Given the description of an element on the screen output the (x, y) to click on. 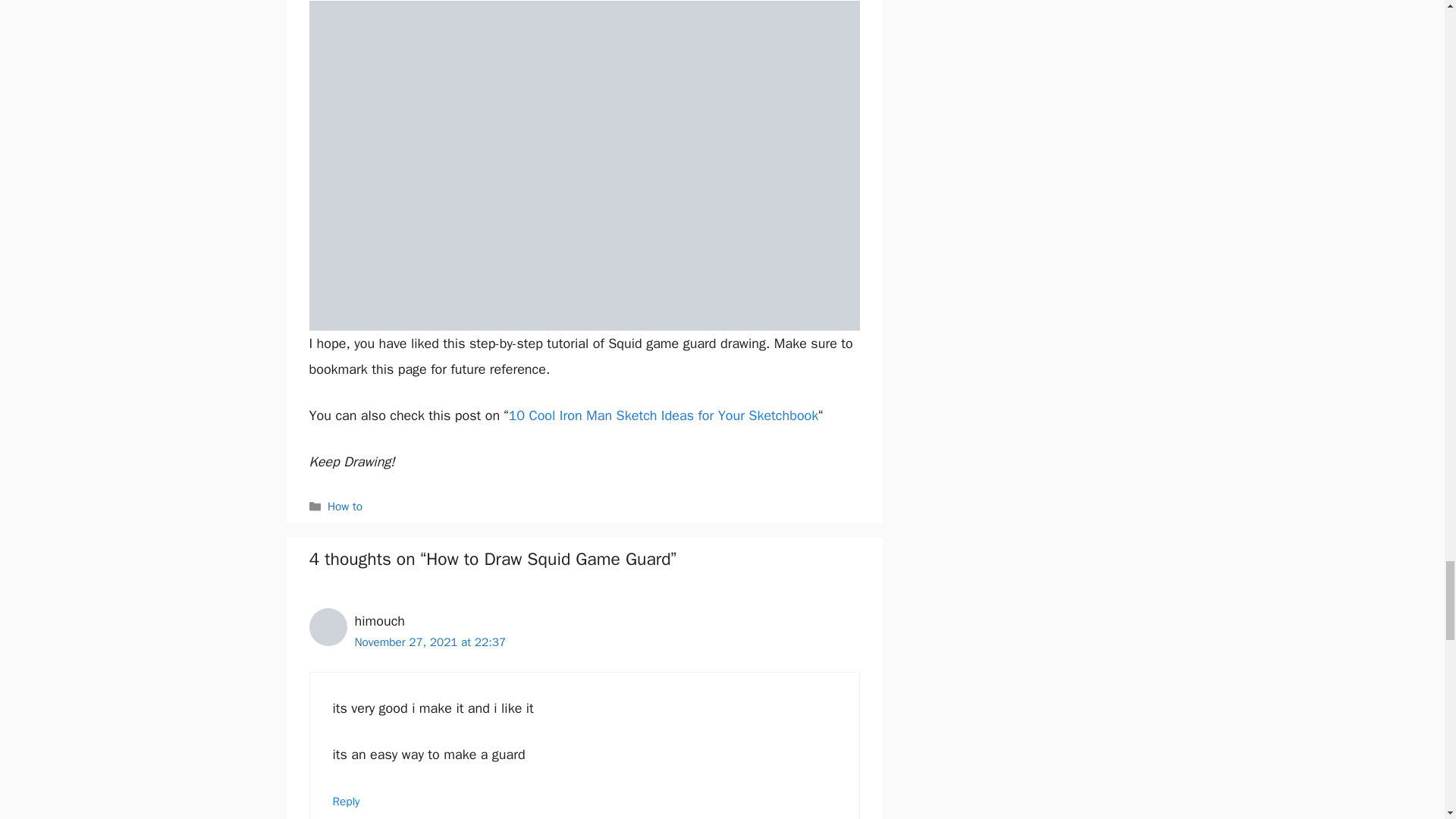
10 Cool Iron Man Sketch Ideas for Your Sketchbook (663, 415)
Reply (345, 801)
How to (344, 506)
November 27, 2021 at 22:37 (430, 642)
